Given the description of an element on the screen output the (x, y) to click on. 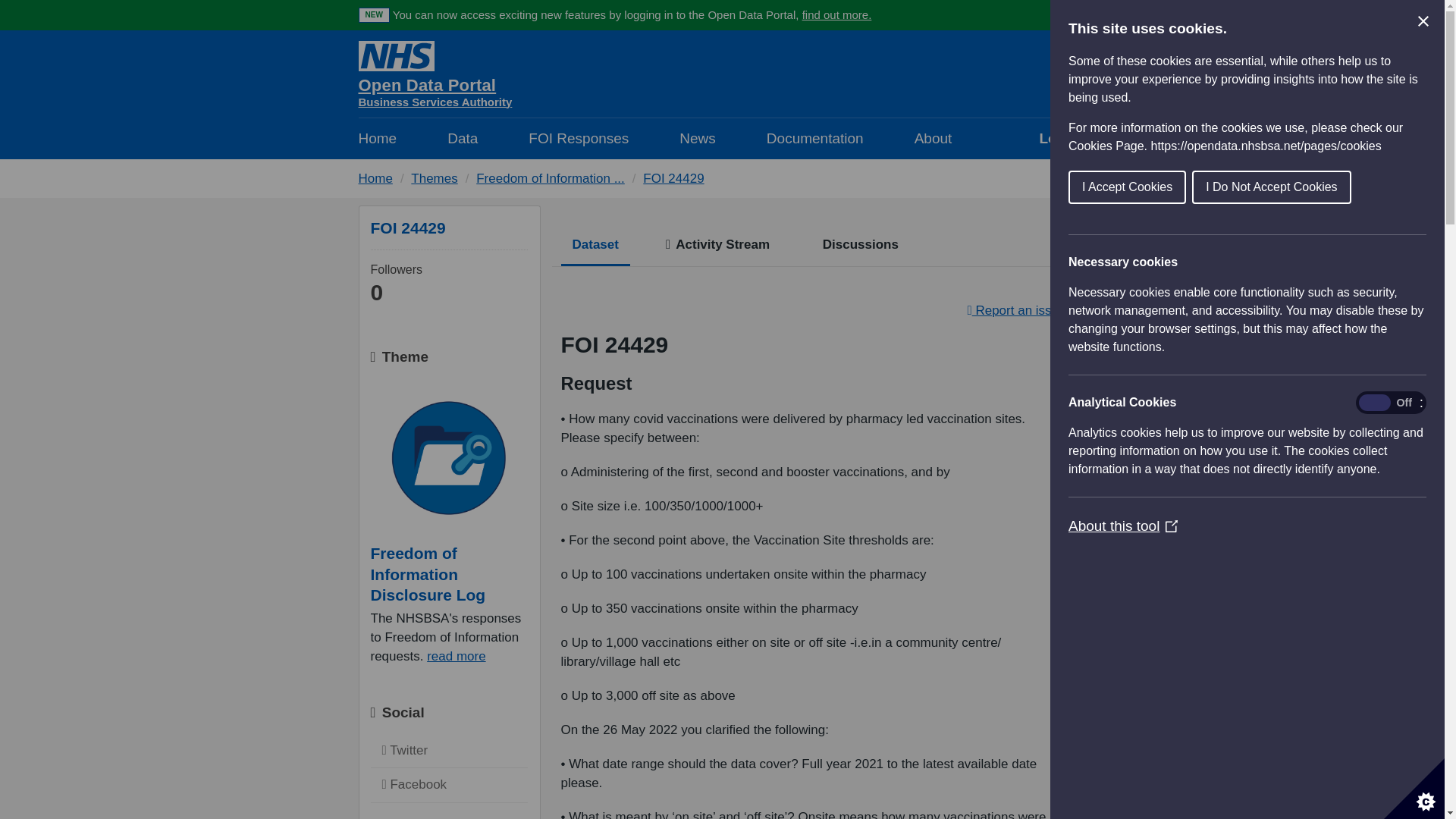
FOI 24429 (435, 83)
Go to Data (673, 178)
Themes (462, 137)
Find out about the new features (433, 178)
FOI DATA (837, 14)
FOI Responses (577, 137)
Freedom of Information ... (577, 137)
Discussions (550, 178)
Go to Home (857, 247)
Go to About (379, 137)
Activity Stream (933, 137)
Twitter (716, 247)
Log in (448, 750)
read more (1062, 137)
